Given the description of an element on the screen output the (x, y) to click on. 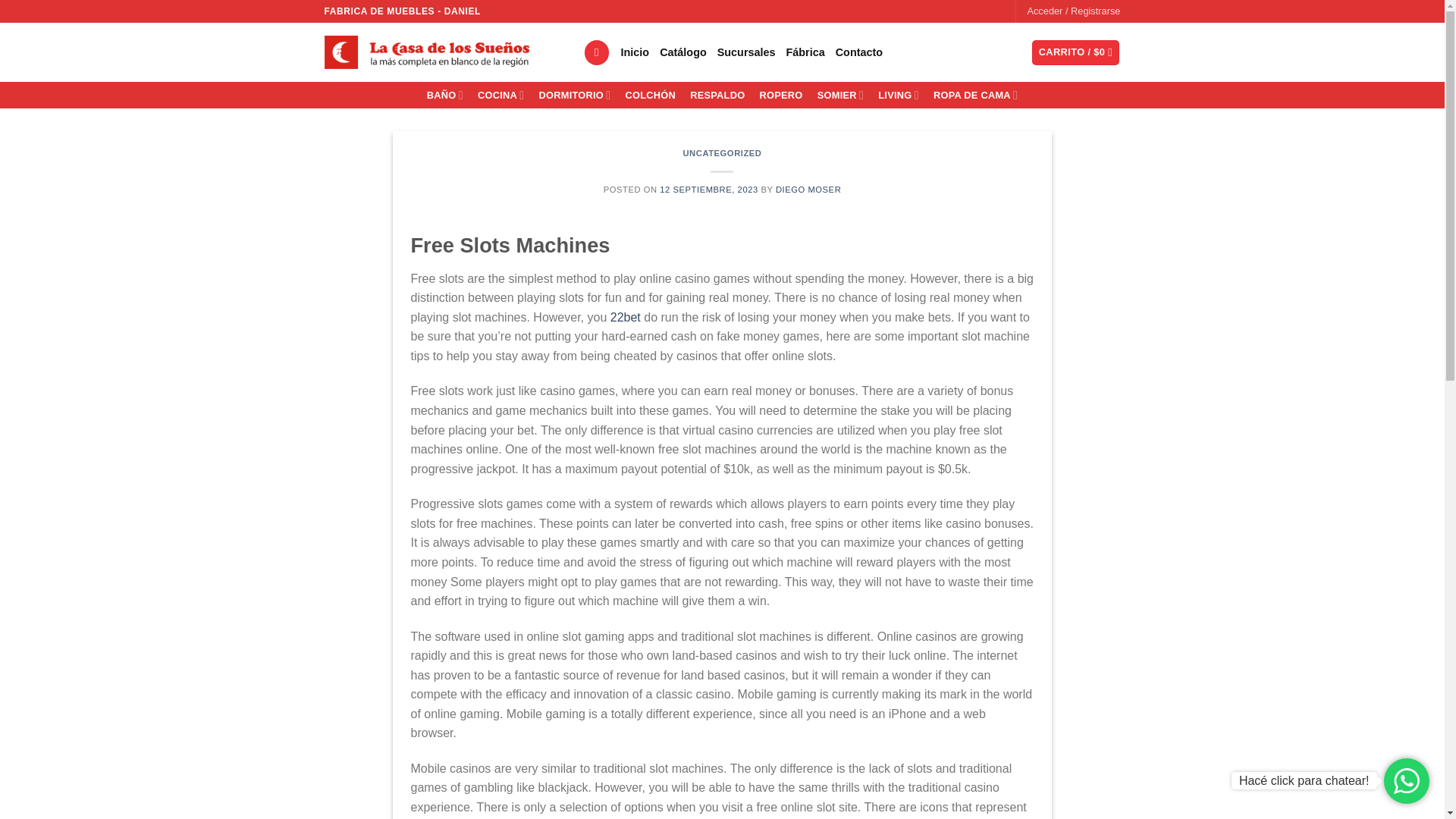
Inicio (635, 52)
RESPALDO (717, 95)
ROPERO (780, 95)
SOMIER (839, 95)
DORMITORIO (574, 95)
LIVING (898, 95)
Sucursales (746, 52)
Carrito (1075, 52)
COCINA (500, 95)
Contacto (858, 52)
